Given the description of an element on the screen output the (x, y) to click on. 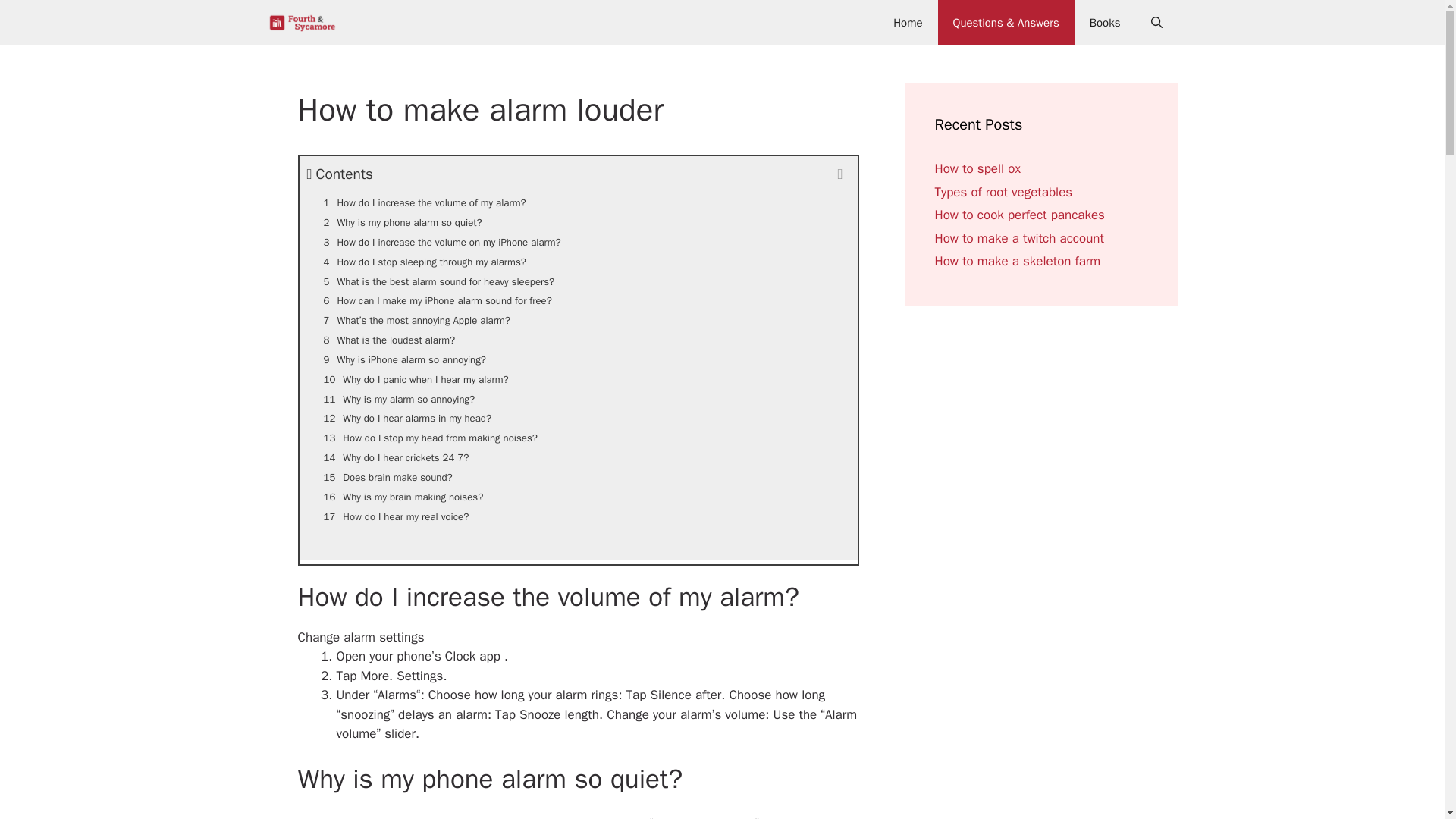
Does brain make sound? (577, 477)
Why do I hear crickets 24 7? (577, 457)
How do I stop my head from making noises? (577, 437)
How can I make my iPhone alarm sound for free? (577, 301)
How do I stop sleeping through my alarms? (577, 261)
Types of root vegetables (1002, 191)
How do I hear my real voice? (577, 516)
How to make a twitch account (1018, 238)
Why do I hear alarms in my head? (577, 418)
Why is my brain making noises? (577, 496)
How to spell ox (977, 168)
How do I increase the volume on my iPhone alarm? (577, 242)
How do I increase the volume of my alarm? (577, 202)
Books (1104, 22)
How to cook perfect pancakes (1018, 214)
